Given the description of an element on the screen output the (x, y) to click on. 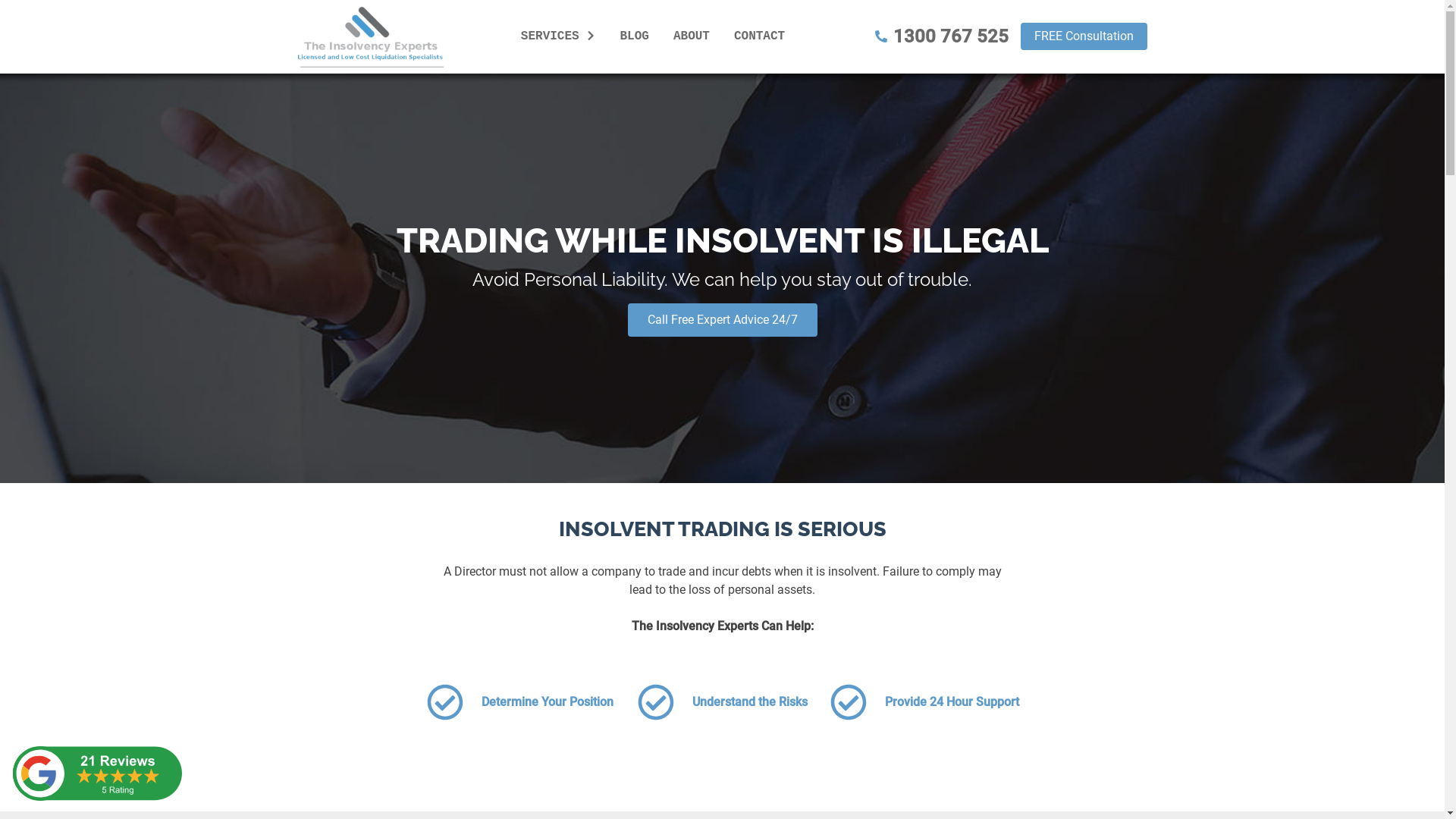
ABOUT Element type: text (691, 36)
Call Free Expert Advice 24/7 Element type: text (722, 319)
CONTACT Element type: text (759, 36)
FREE Consultation Element type: text (1083, 36)
SERVICES Element type: text (558, 36)
VOLUNTARY LIQUIDATION Element type: text (866, 62)
BANKRUPTCY Element type: text (895, 62)
BLOG Element type: text (634, 36)
DIRECTOR PENALTY NOTICE Element type: text (850, 62)
1300 767 525 Element type: text (941, 36)
CORPORATE INSOLVENCY Element type: text (848, 62)
